Given the description of an element on the screen output the (x, y) to click on. 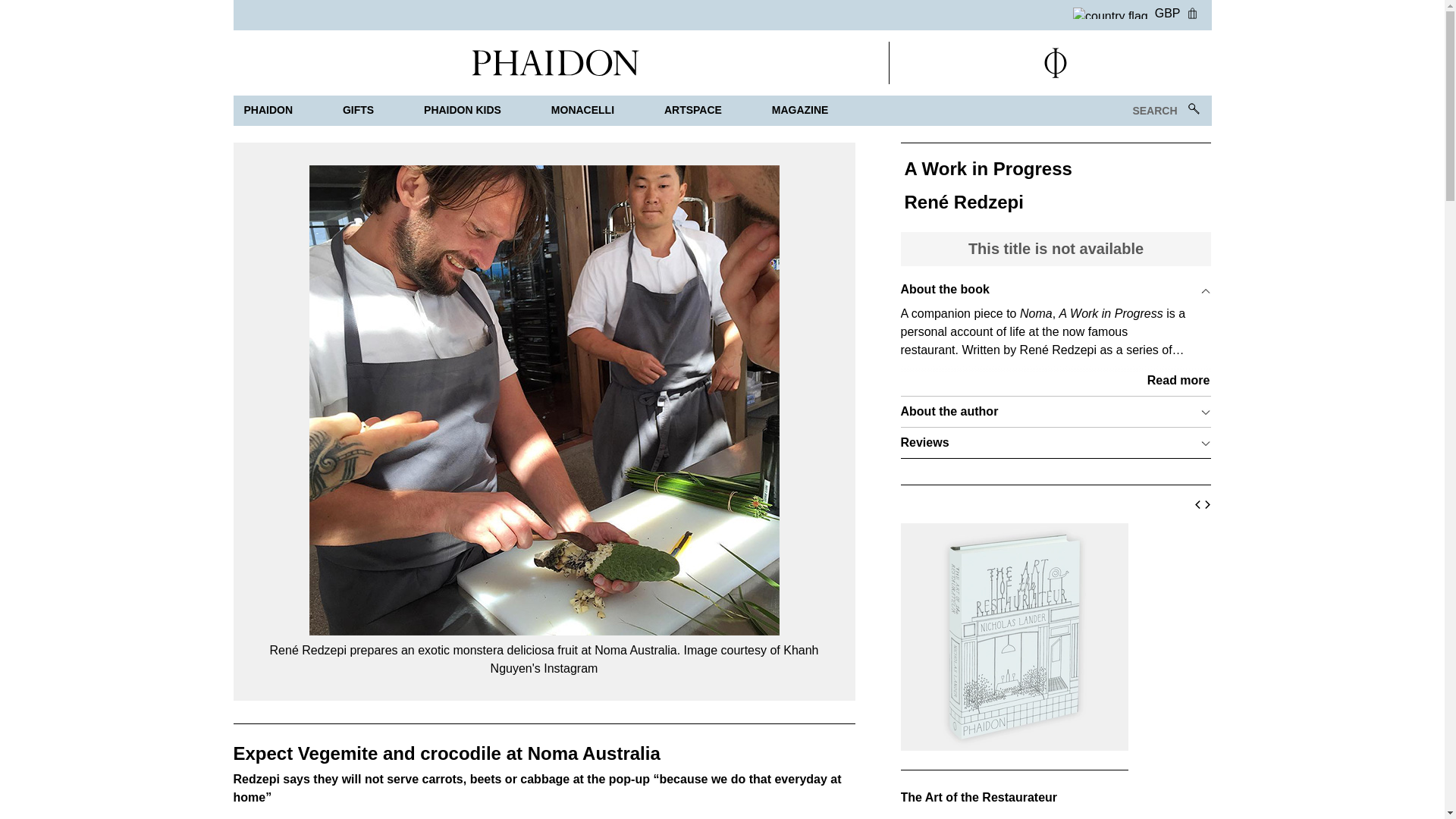
PHAIDON KIDS (462, 110)
MONACELLI (582, 110)
GBP (1126, 11)
GIFTS (358, 110)
PHAIDON (268, 110)
